Given the description of an element on the screen output the (x, y) to click on. 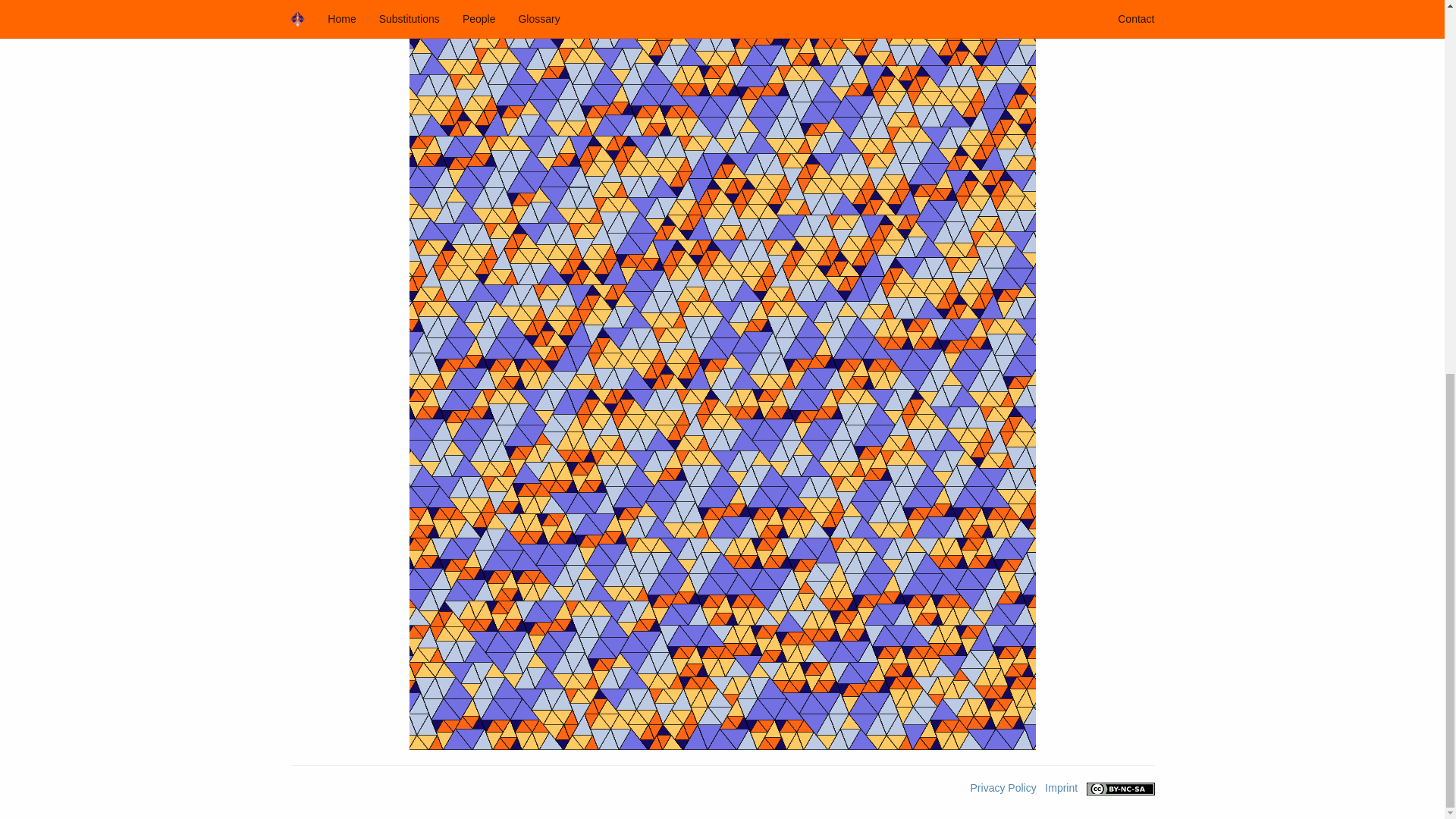
Privacy Policy (1003, 787)
Imprint (1061, 787)
